Given the description of an element on the screen output the (x, y) to click on. 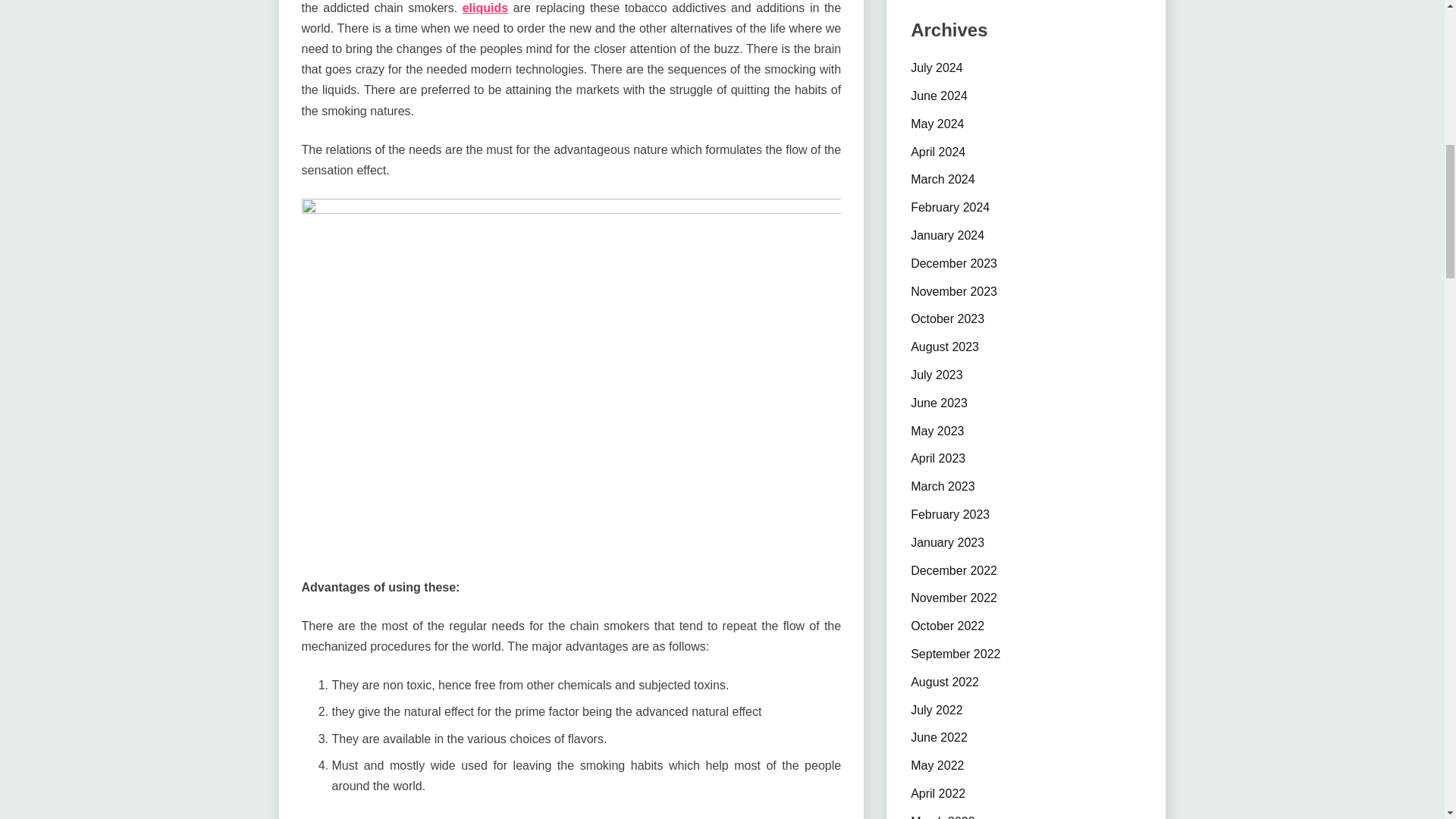
June 2024 (939, 95)
July 2024 (936, 67)
April 2024 (938, 151)
eliquids (485, 7)
May 2024 (937, 123)
